Given the description of an element on the screen output the (x, y) to click on. 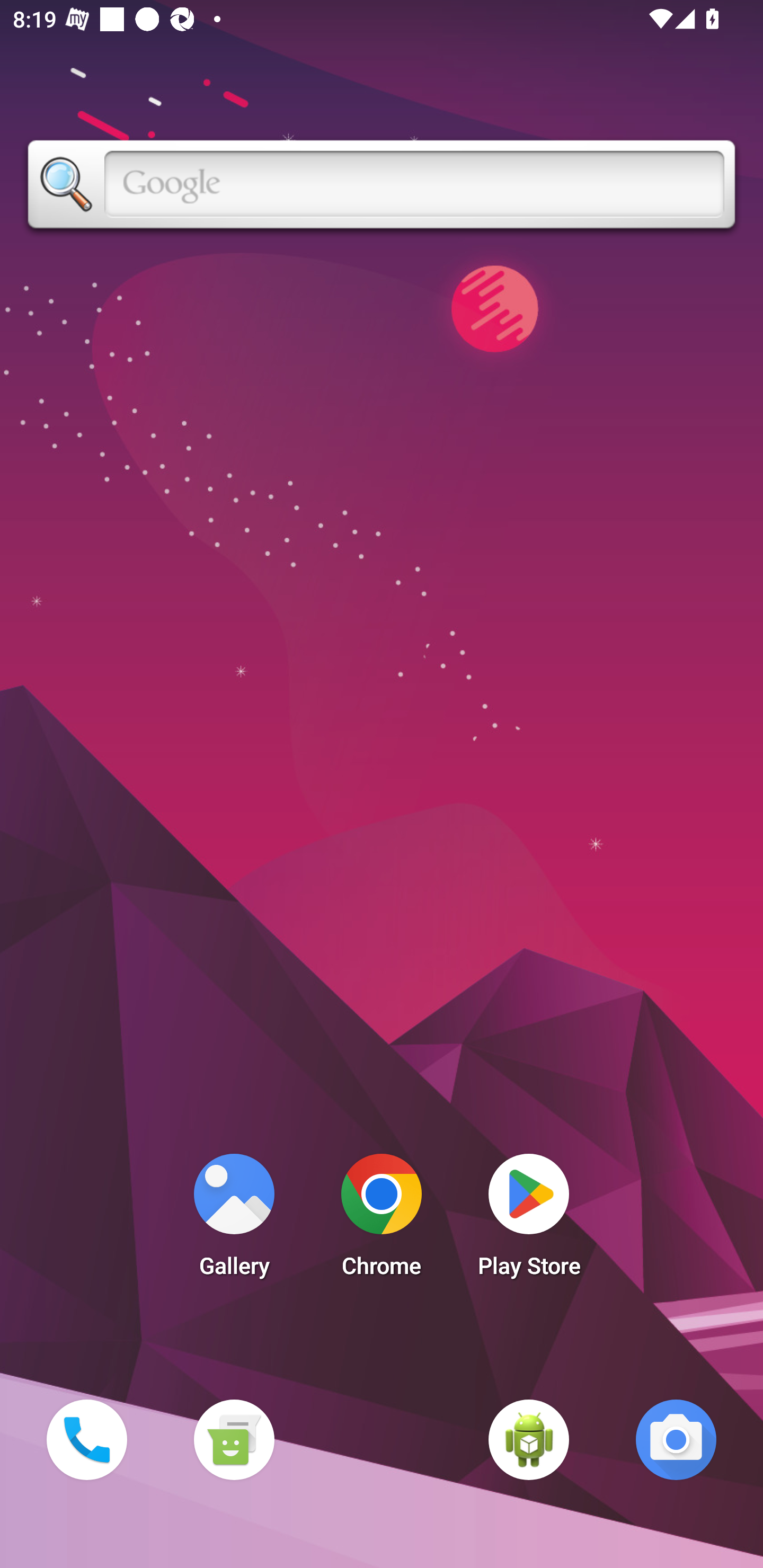
Gallery (233, 1220)
Chrome (381, 1220)
Play Store (528, 1220)
Phone (86, 1439)
Messaging (233, 1439)
WebView Browser Tester (528, 1439)
Camera (676, 1439)
